Given the description of an element on the screen output the (x, y) to click on. 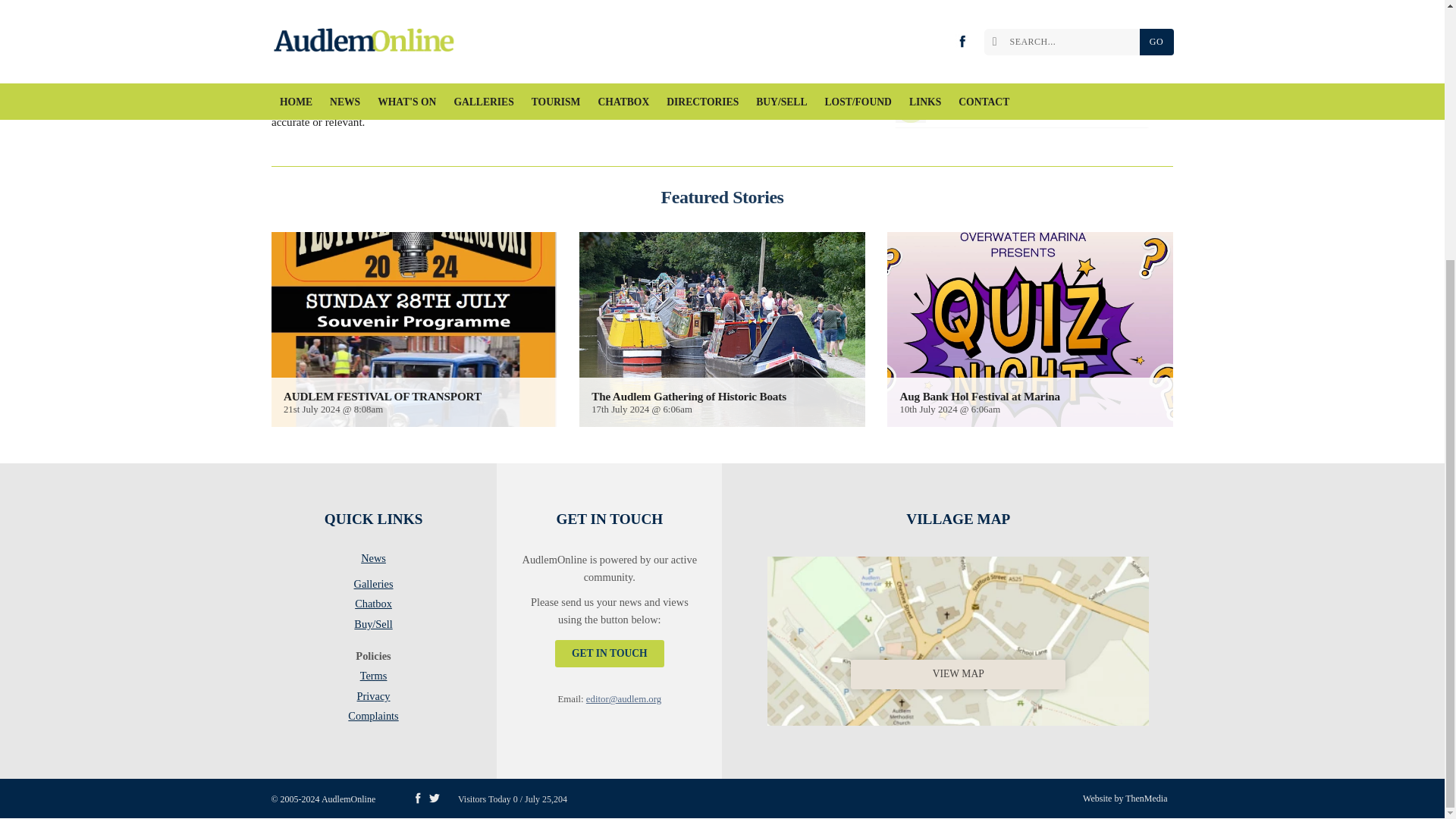
Terms (373, 678)
Featured Stories (722, 197)
Privacy (373, 699)
Visit our X Feed (434, 797)
Complaints (373, 715)
VIEW MAP (957, 638)
Visit our Facebook Page (417, 797)
News (373, 560)
Chatbox (373, 606)
GET IN TOUCH (608, 653)
Galleries (373, 587)
